Given the description of an element on the screen output the (x, y) to click on. 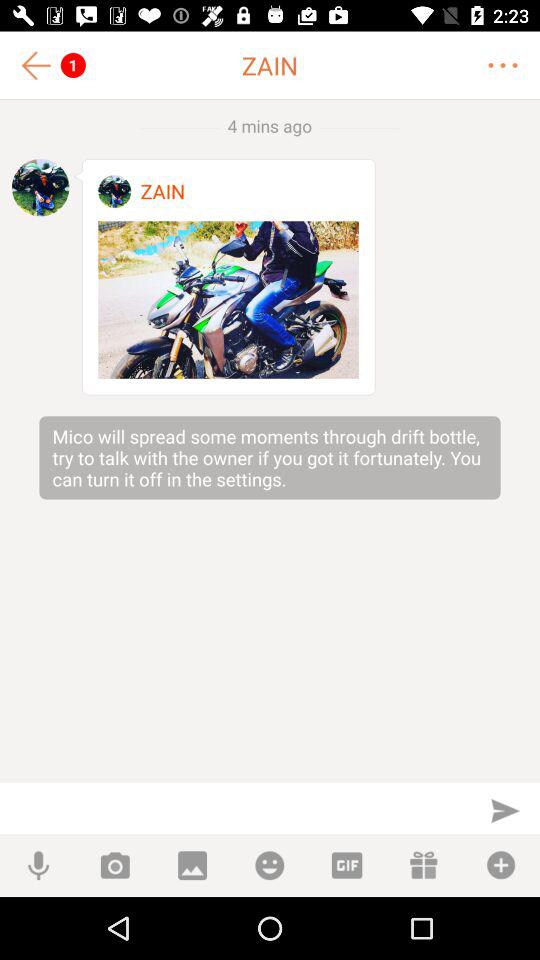
smiley (269, 865)
